Given the description of an element on the screen output the (x, y) to click on. 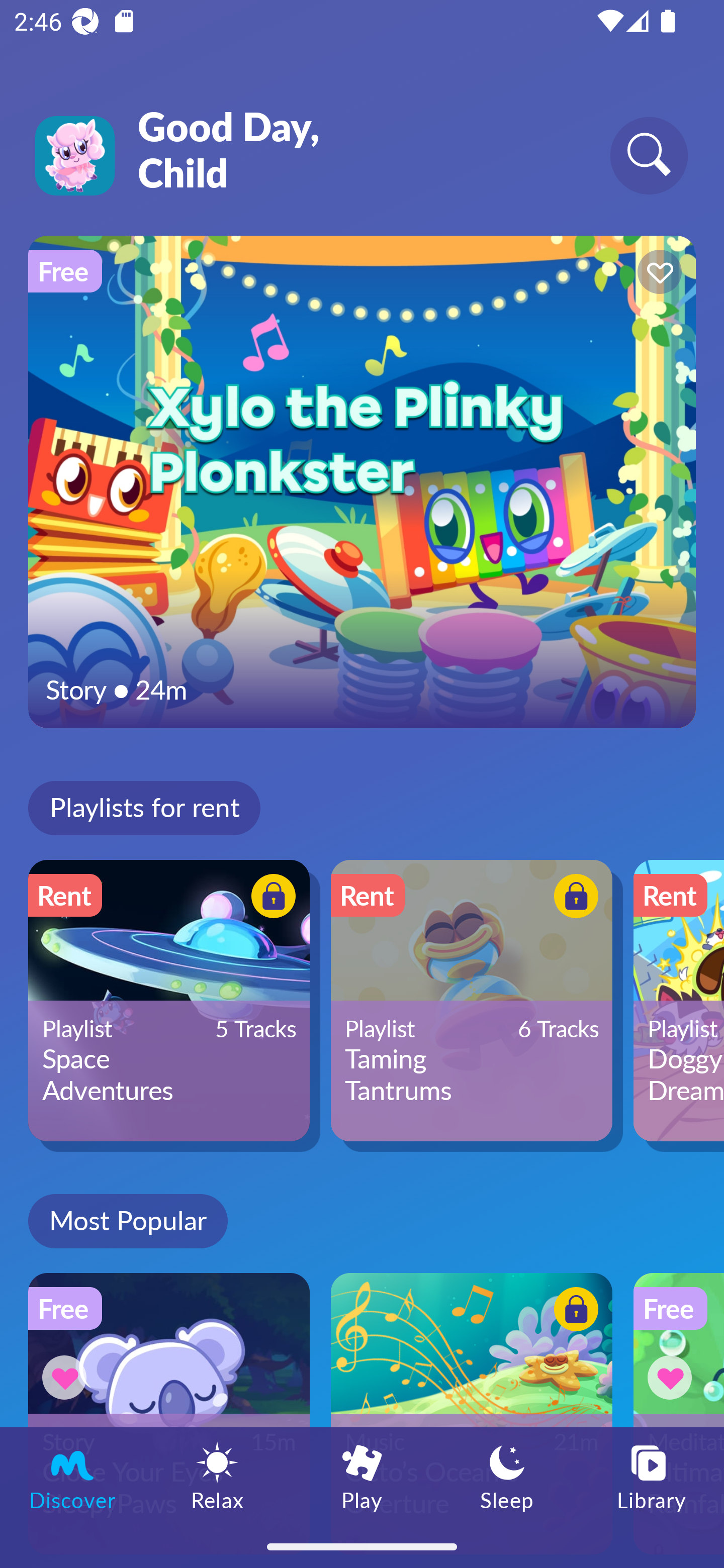
Search (648, 154)
Featured Content Free Button Story ● 24m (361, 481)
Button (656, 274)
Button (269, 898)
Button (573, 898)
Button (573, 1312)
Button (67, 1377)
Button (672, 1377)
Relax (216, 1475)
Play (361, 1475)
Sleep (506, 1475)
Library (651, 1475)
